Given the description of an element on the screen output the (x, y) to click on. 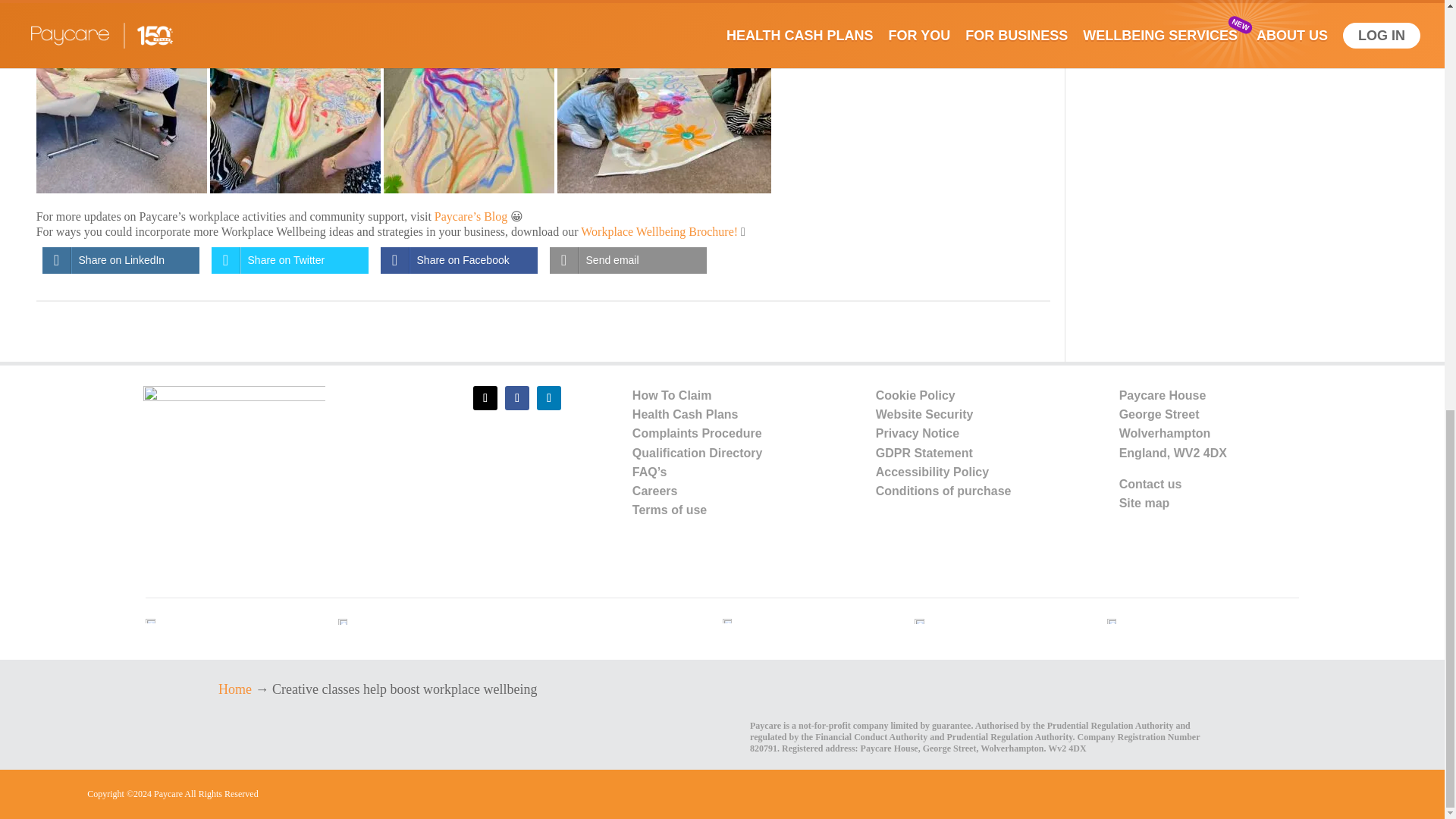
Share on Twitter (289, 260)
Follow on Facebook (517, 397)
IFIG The Forum for Fraud Investigators (727, 621)
Follow on LinkedIn (548, 397)
Paycare-150 (233, 458)
Follow on Twitter (485, 397)
Share on LinkedIn (120, 260)
Share it on Email (628, 260)
Share on Facebook (458, 260)
